Given the description of an element on the screen output the (x, y) to click on. 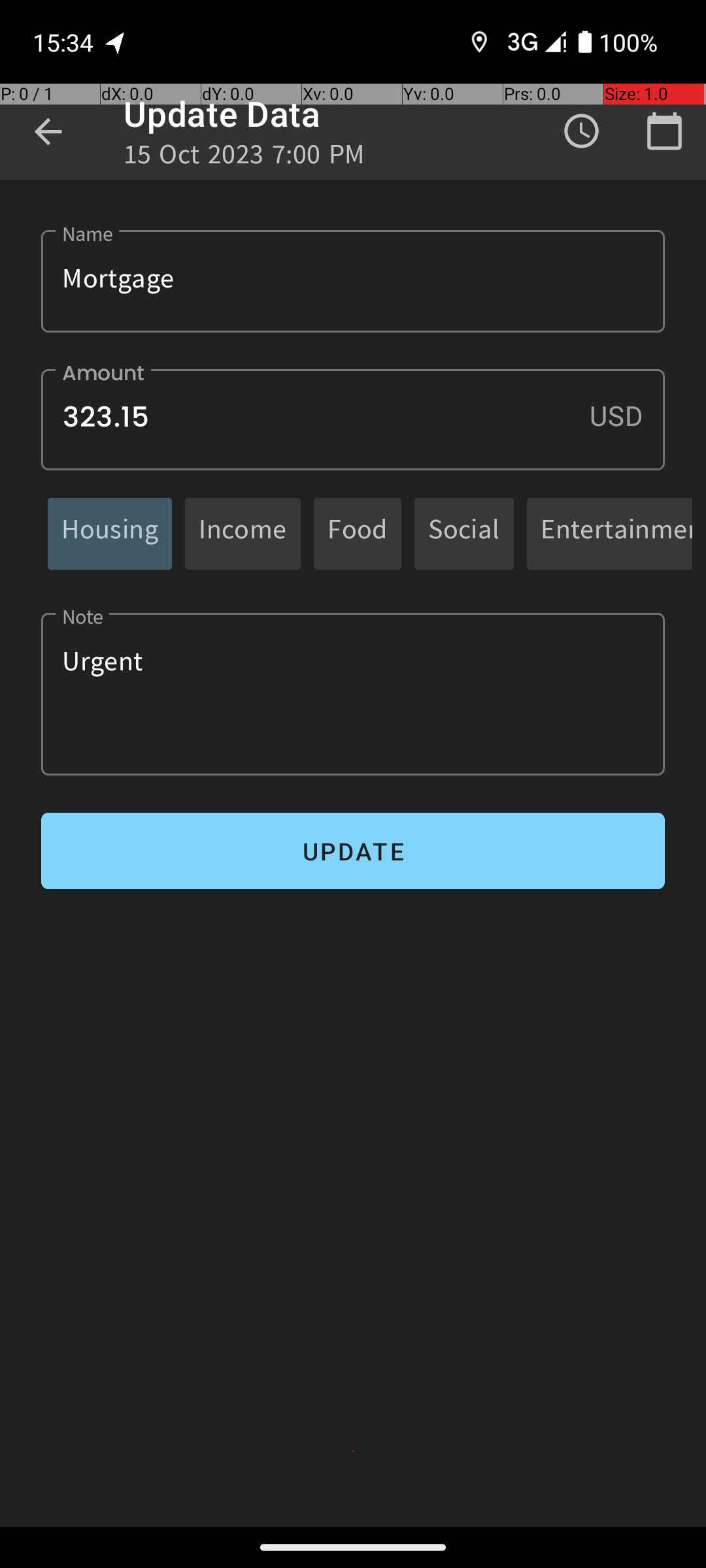
15 Oct 2023 7:00 PM Element type: android.widget.TextView (244, 157)
Mortgage Element type: android.widget.EditText (352, 280)
323.15 Element type: android.widget.EditText (352, 419)
Urgent Element type: android.widget.EditText (352, 693)
